Given the description of an element on the screen output the (x, y) to click on. 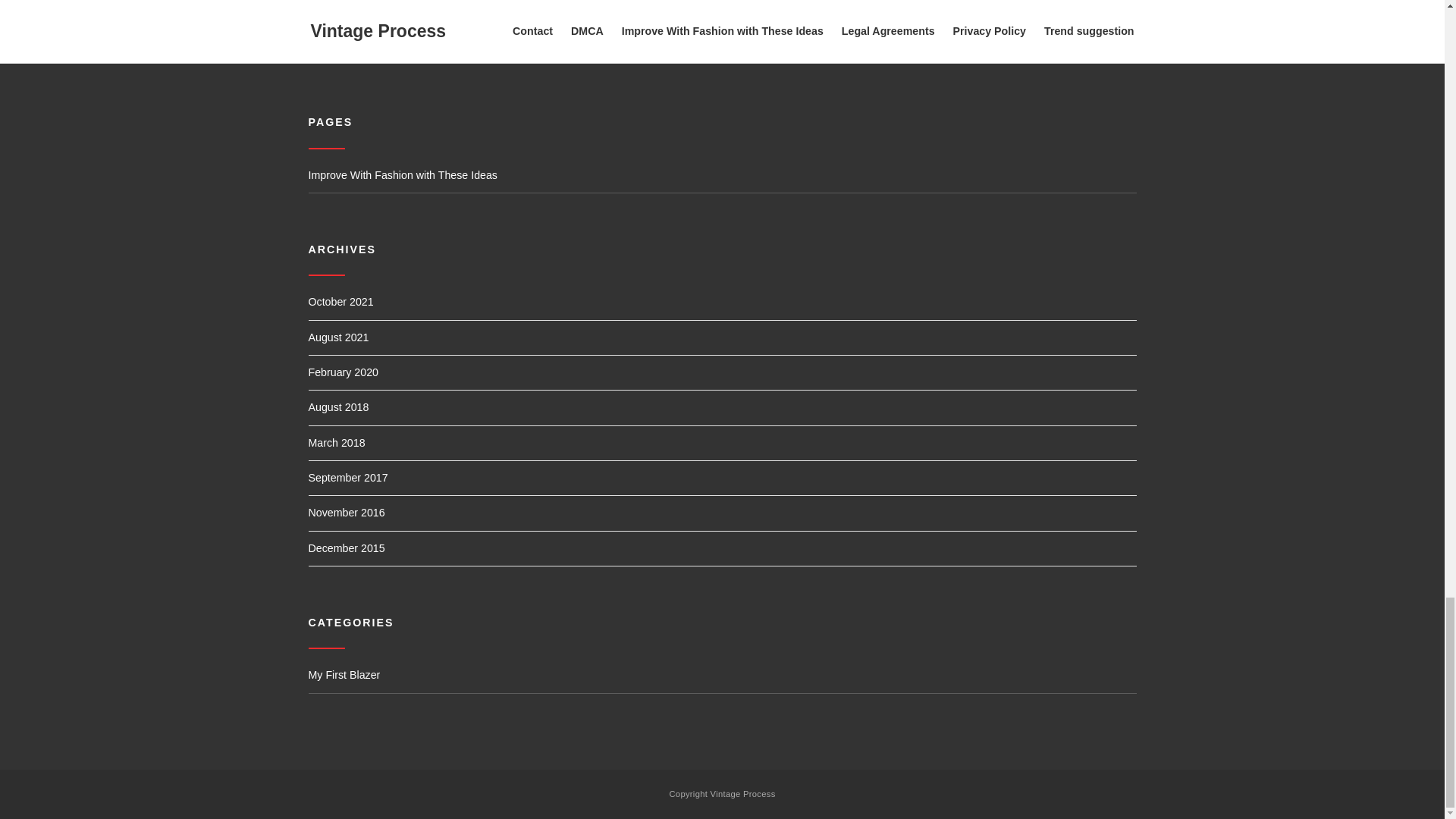
Improve With Fashion with These Ideas (721, 180)
August 2018 (337, 411)
October 2021 (339, 305)
February 2020 (342, 376)
August 2021 (337, 341)
